Given the description of an element on the screen output the (x, y) to click on. 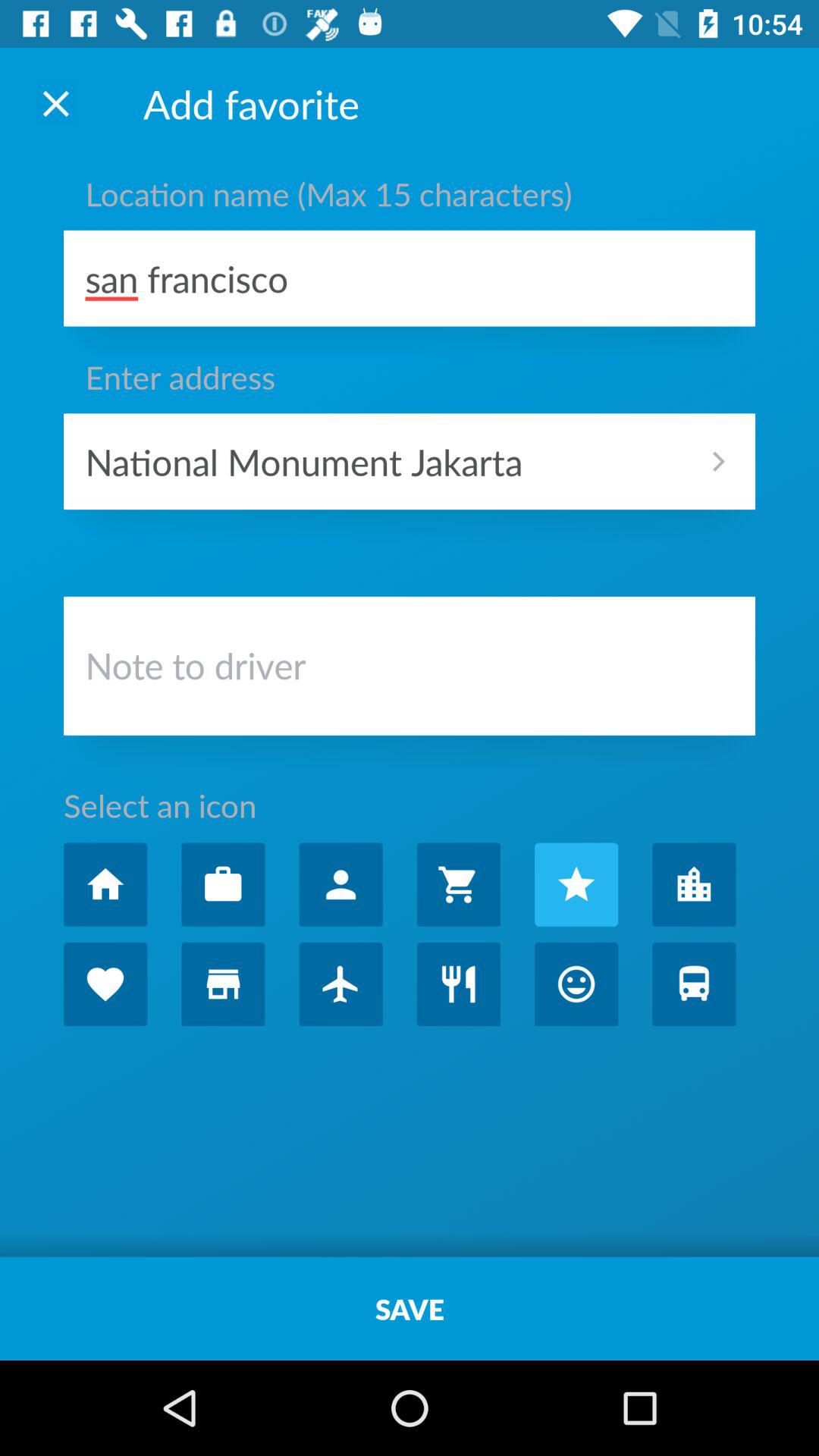
select people icon (340, 884)
